Given the description of an element on the screen output the (x, y) to click on. 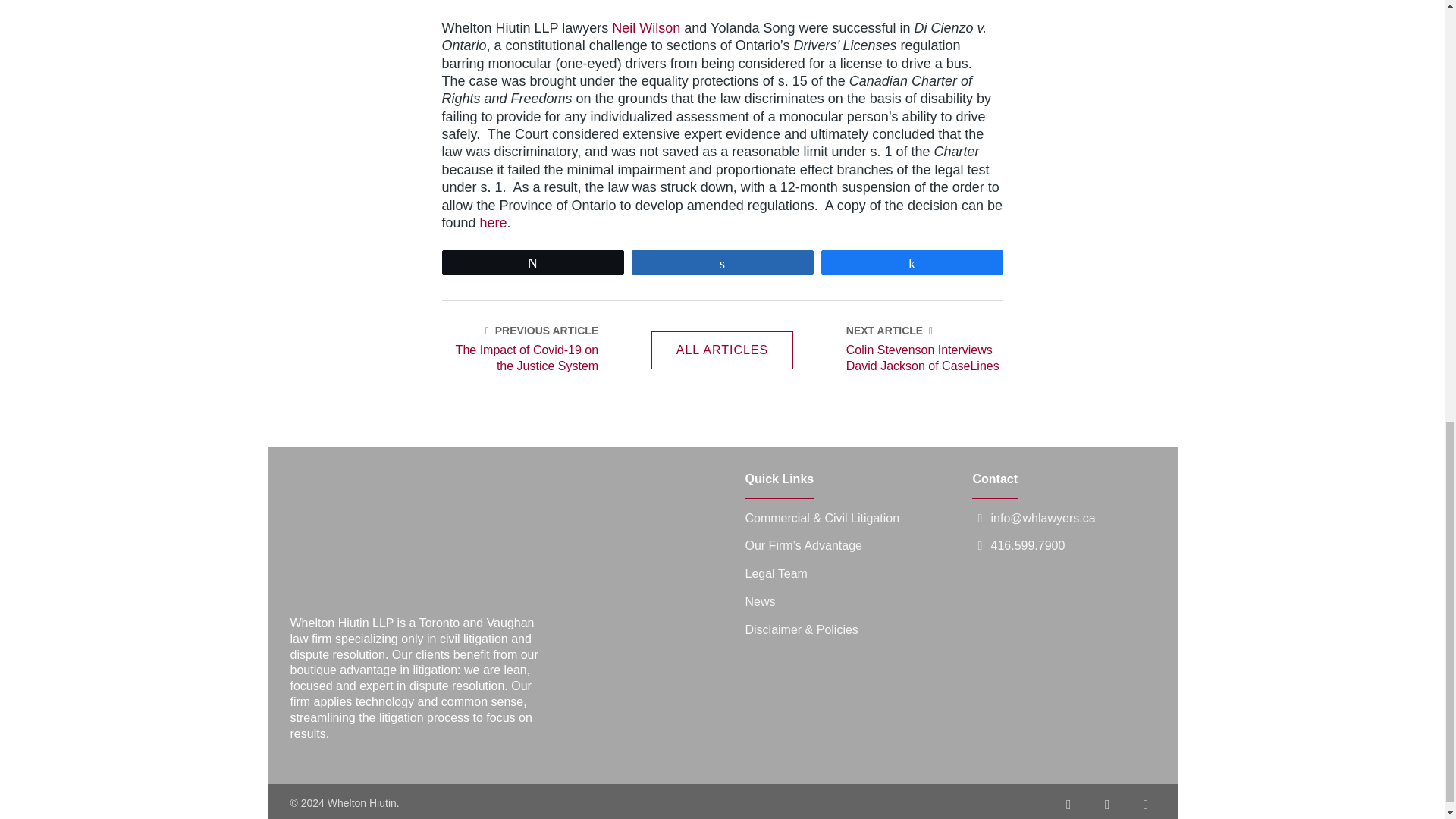
Facebook Account (1068, 805)
The Impact of Covid-19 on the Justice System (519, 358)
Colin Stevenson Interviews David Jackson of CaseLines (924, 358)
Legal Team (775, 573)
Neil Wilson (645, 28)
here (493, 222)
ALL ARTICLES (721, 350)
News (759, 602)
